Given the description of an element on the screen output the (x, y) to click on. 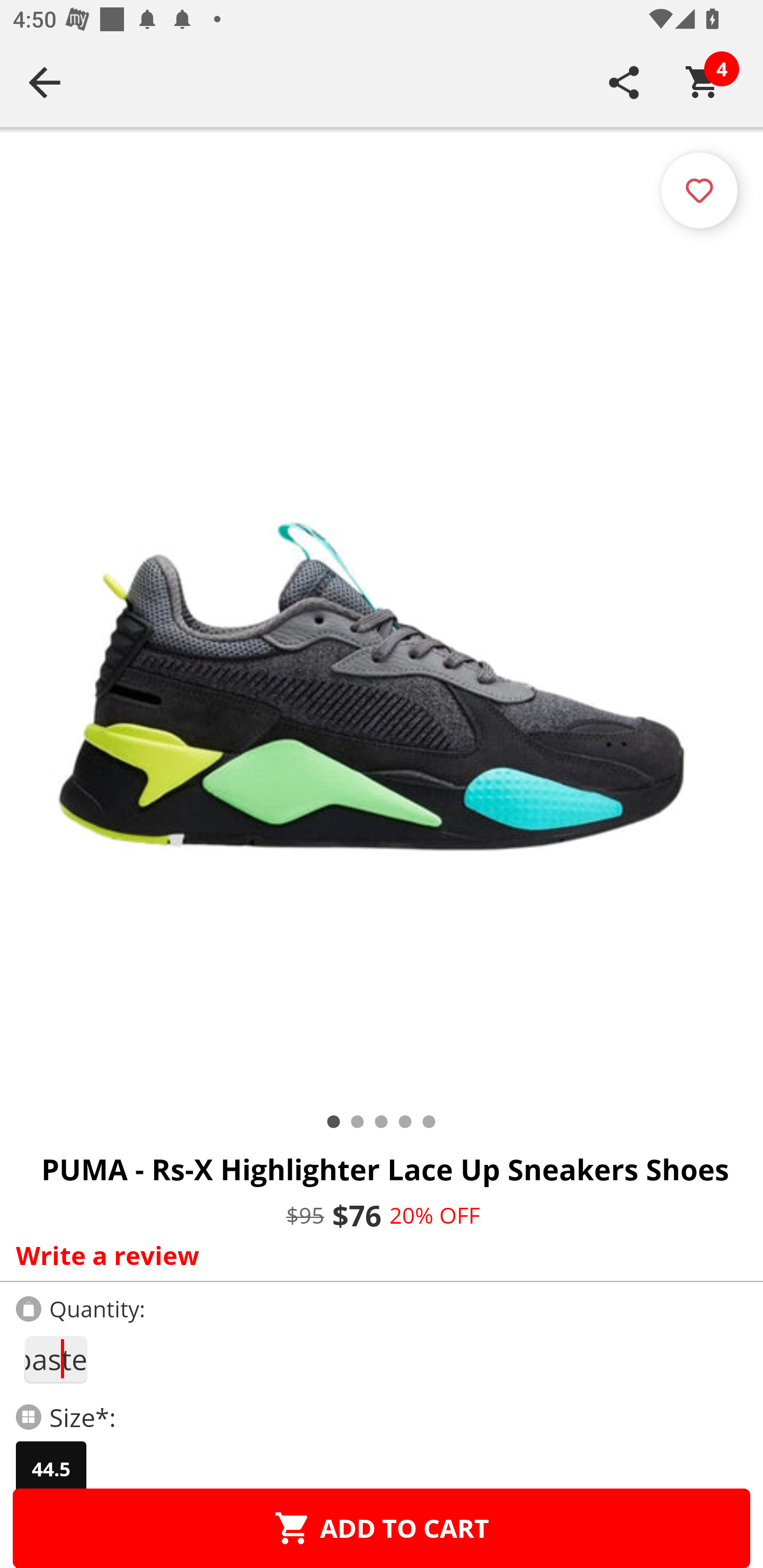
Navigate up (44, 82)
SHARE (623, 82)
Cart (703, 81)
Write a review (377, 1255)
1toothpaste (55, 1358)
44.5 (51, 1468)
ADD TO CART (381, 1528)
